Given the description of an element on the screen output the (x, y) to click on. 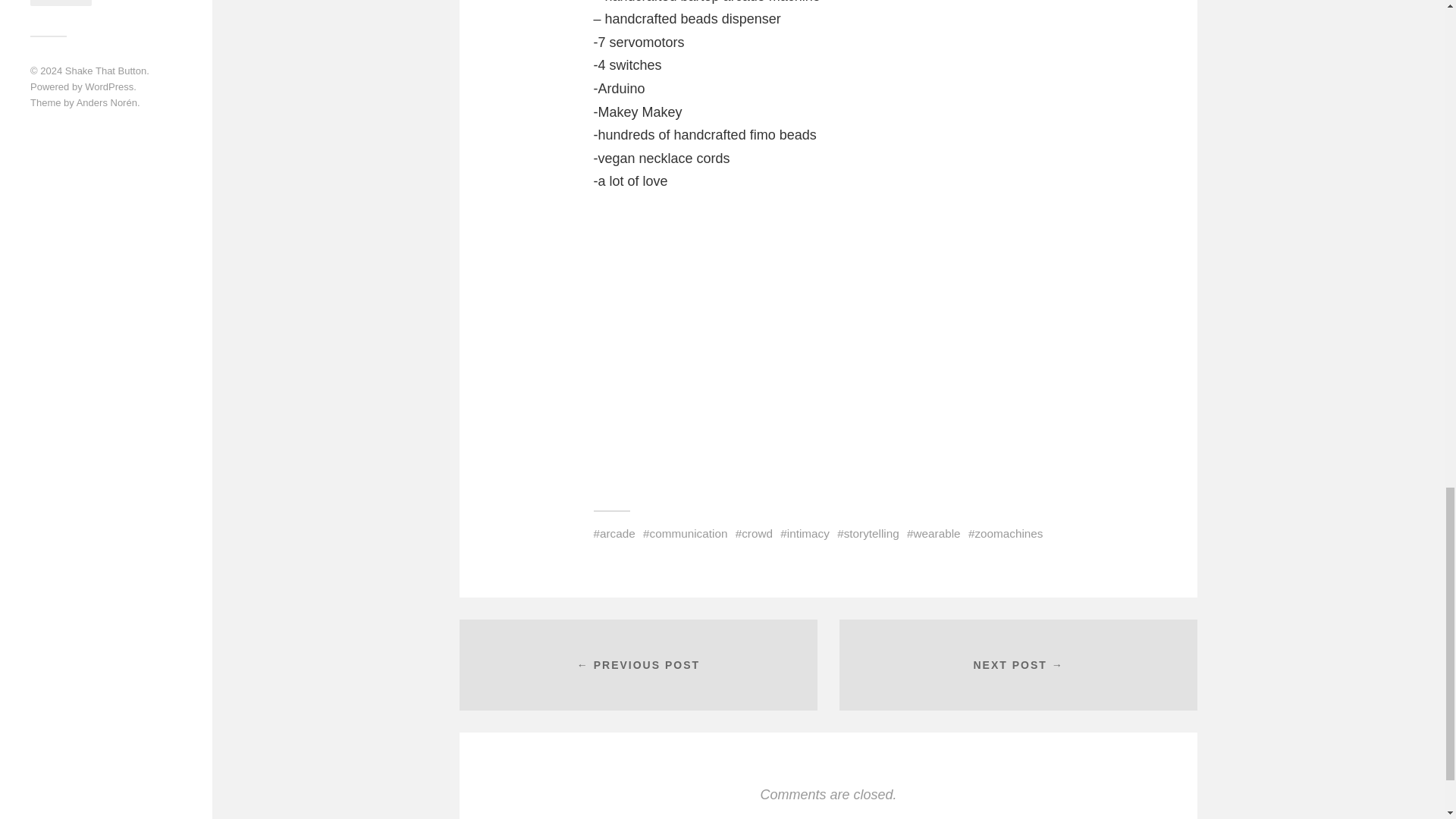
Previous post: Gamelan Wizard (638, 664)
Next post: Not waking up is hard to do (1018, 664)
